Given the description of an element on the screen output the (x, y) to click on. 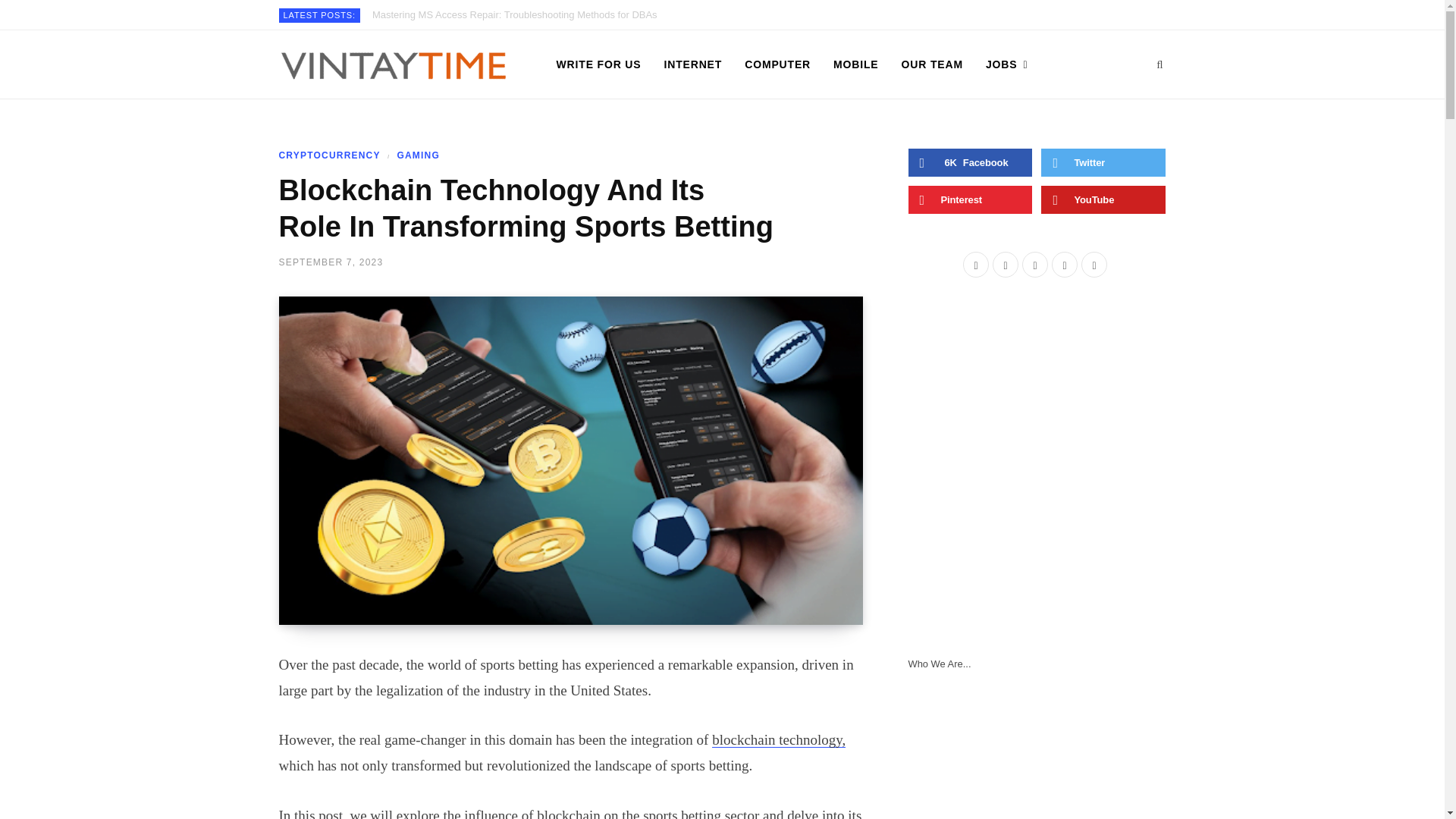
JOBS (1006, 64)
WRITE FOR US (598, 64)
CRYPTOCURRENCY (329, 154)
VintayTime (392, 65)
COMPUTER (777, 64)
Mastering MS Access Repair: Troubleshooting Methods for DBAs (518, 15)
blockchain technology, (778, 739)
GAMING (410, 154)
OUR TEAM (931, 64)
